Given the description of an element on the screen output the (x, y) to click on. 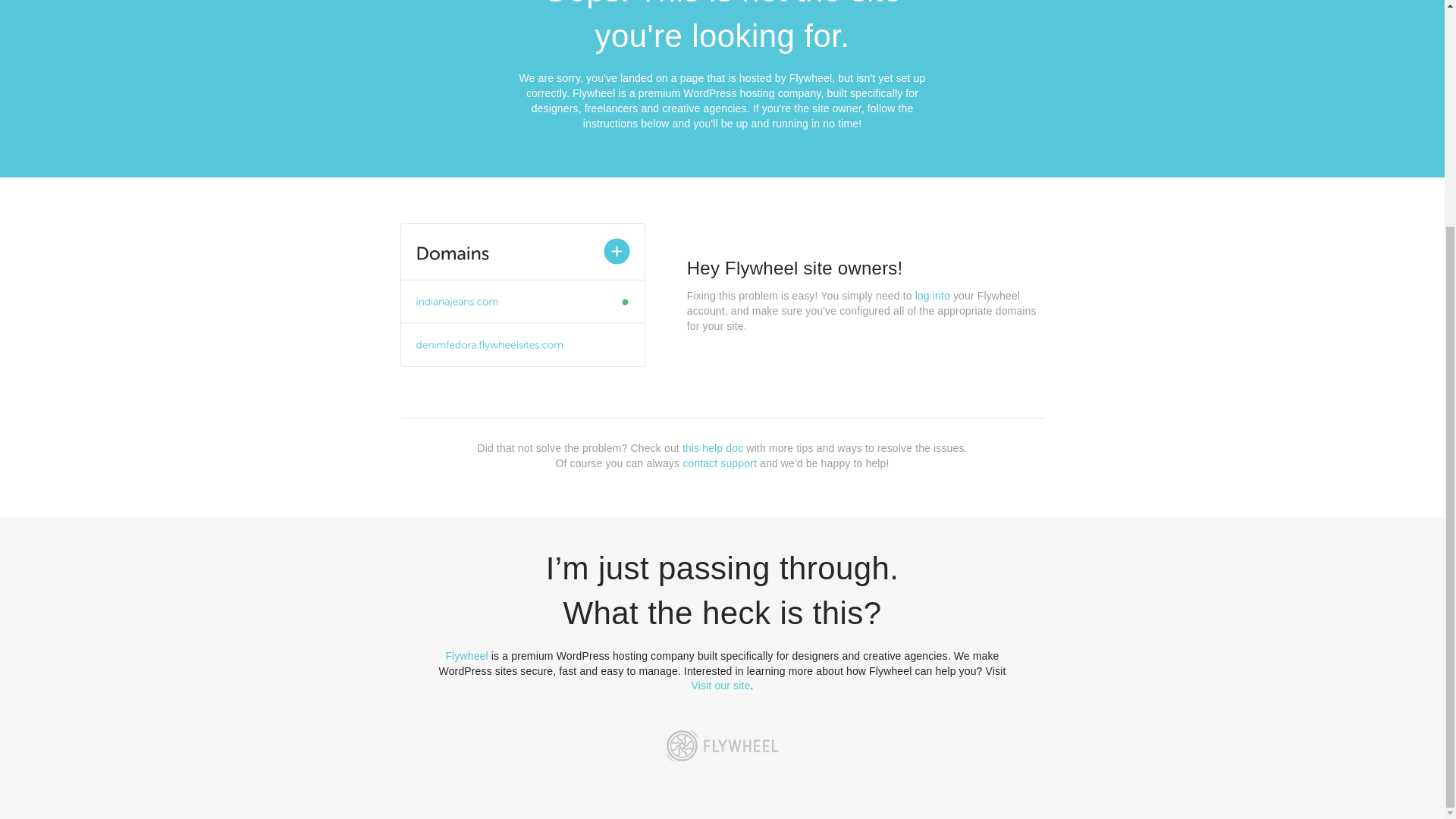
log into (932, 295)
this help doc (712, 448)
Flywheel (466, 655)
Visit our site (721, 685)
contact support (719, 463)
